Given the description of an element on the screen output the (x, y) to click on. 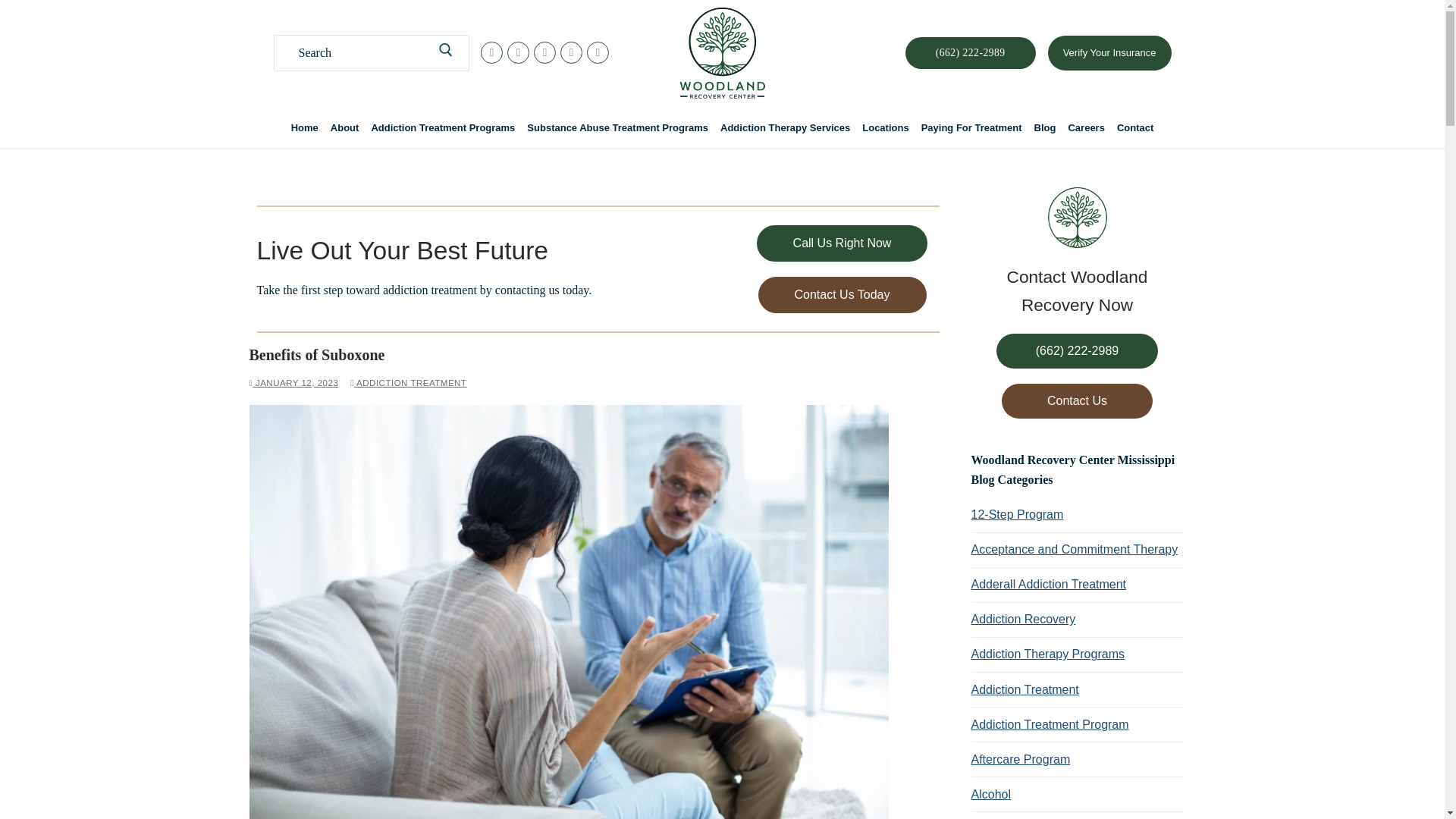
Woodland Recovery Favicon Logo  1 (1076, 217)
Facebook (491, 52)
Verify Your Insurance (1109, 52)
Verify Your Insurance (1110, 53)
Youtube (544, 52)
Twitter (518, 52)
About (344, 127)
LinkedIn (598, 52)
Addiction Treatment Programs (443, 127)
Instagram (571, 52)
Home (304, 127)
Search for: (370, 52)
